Given the description of an element on the screen output the (x, y) to click on. 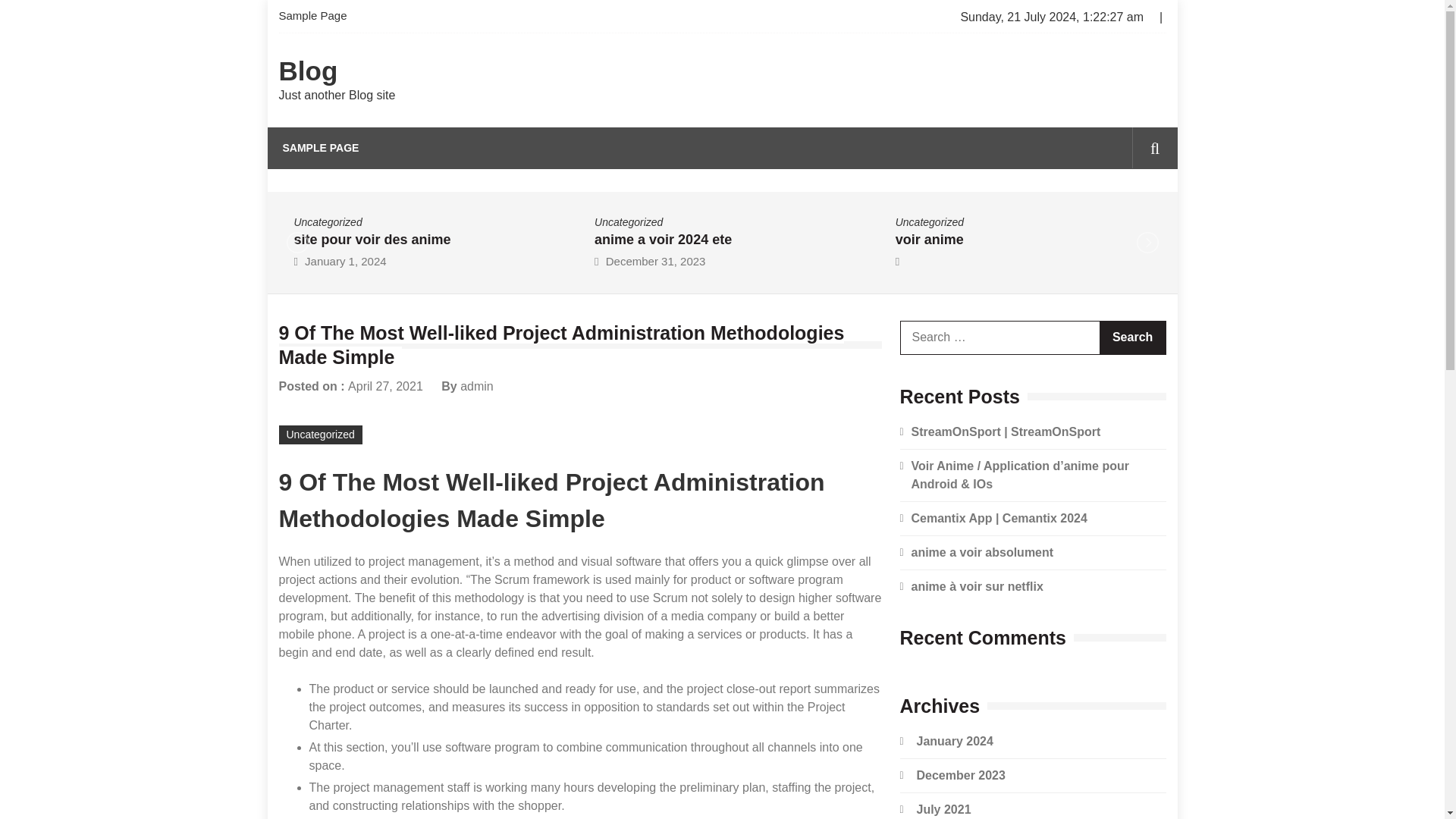
Posts by admin (476, 385)
Search (1132, 336)
Uncategorized (327, 221)
Blog (308, 71)
Uncategorized (628, 221)
Search (1132, 336)
Uncategorized (929, 221)
site pour voir des anime (371, 239)
anime a voir 2024 ete (663, 239)
December 31, 2023 (655, 260)
Sample Page (317, 16)
Search (1130, 212)
January 1, 2024 (345, 260)
SAMPLE PAGE (320, 147)
